Given the description of an element on the screen output the (x, y) to click on. 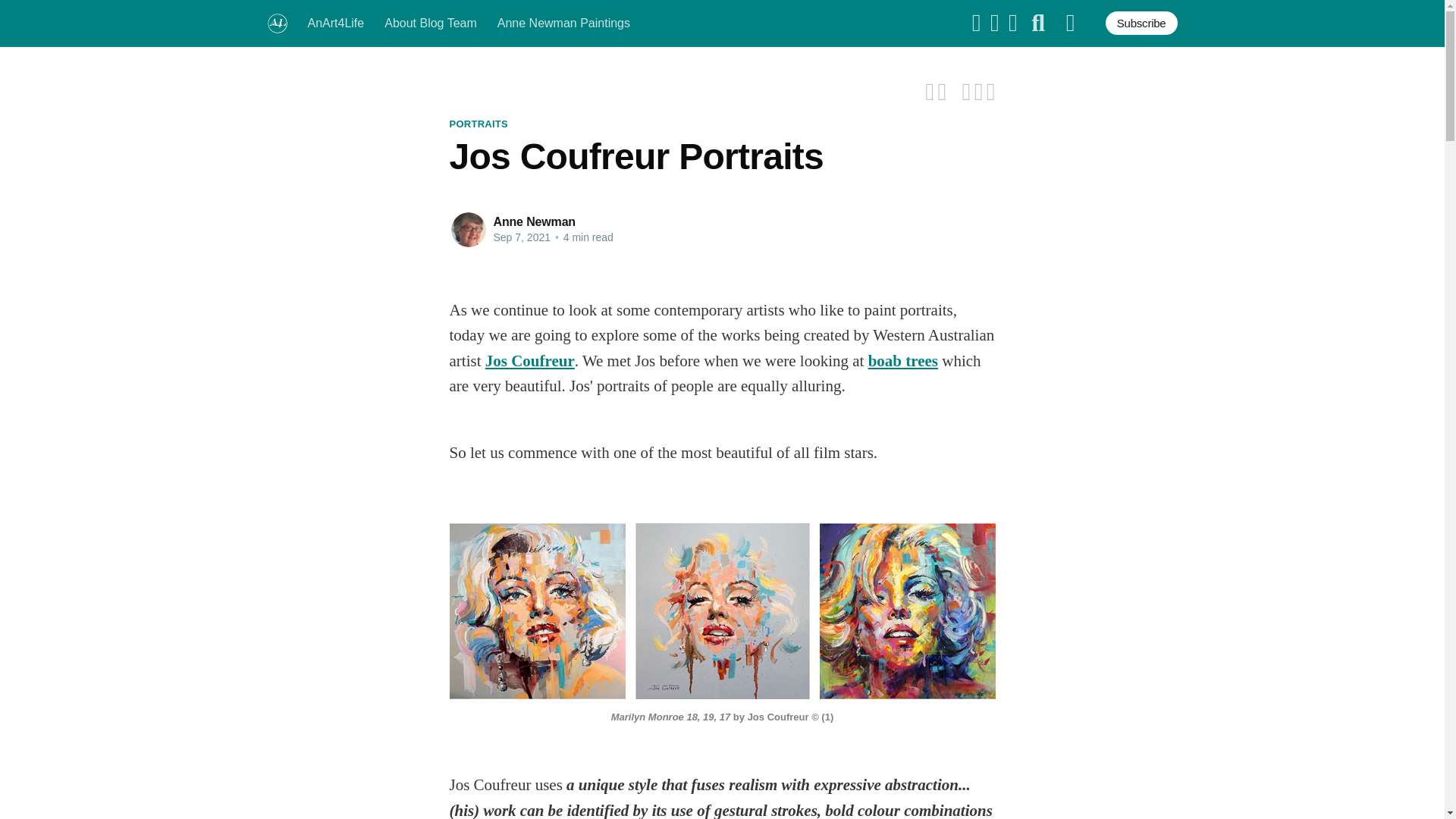
Sitemap (1070, 23)
Anne Newman (534, 221)
PORTRAITS (477, 124)
Search (1037, 23)
Subscribe (1141, 23)
Jos Coufreur (529, 361)
About Blog Team (430, 22)
AnArt4Life (336, 22)
boab trees (902, 361)
Anne Newman Paintings (563, 22)
